Given the description of an element on the screen output the (x, y) to click on. 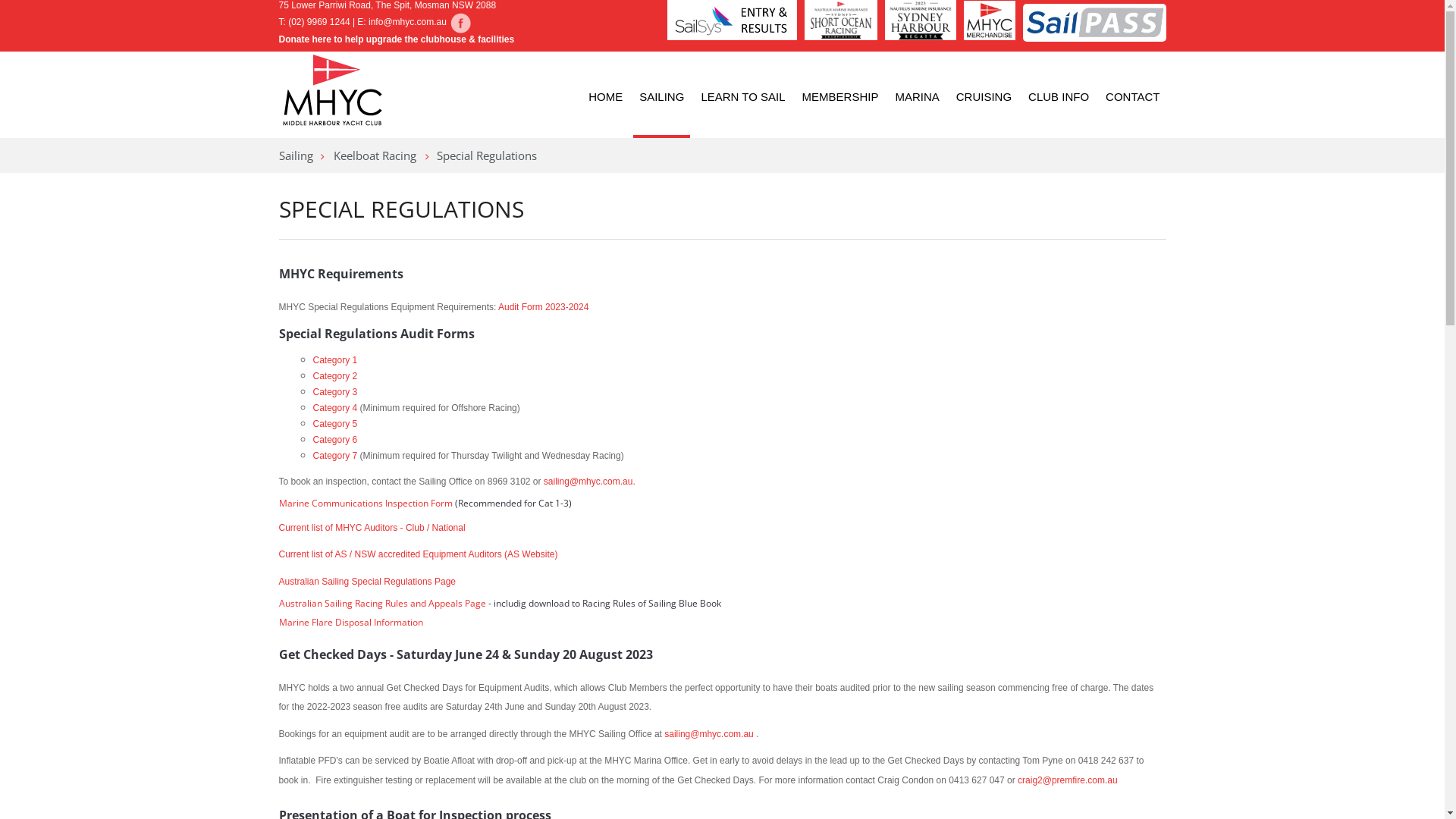
LEARN TO SAIL Element type: text (742, 98)
CONTACT Element type: text (1132, 98)
SPECIAL REGULATIONS Element type: text (401, 208)
Category 1 Element type: text (334, 358)
HOME Element type: text (605, 98)
sailing@mhyc.com.au Element type: text (708, 733)
Marine Communications Inspection Form Element type: text (365, 502)
Category 7 Element type: text (334, 455)
info@mhyc.com.au Element type: text (407, 21)
MARINA Element type: text (916, 98)
Category 5 Element type: text (334, 422)
Donate here to help upgrade the clubhouse & facilities Element type: text (396, 39)
Results Element type: hover (459, 21)
Category 2 Element type: text (334, 374)
Category 4 Element type: text (334, 407)
Current list of MHYC Auditors - Club / National Element type: text (372, 527)
MEMBERSHIP Element type: text (840, 98)
Audit Form 2023-2024 Element type: text (543, 306)
SAILING Element type: text (661, 98)
Sailing Element type: text (296, 155)
Keelboat Racing Element type: text (374, 155)
Category 3 Element type: text (334, 390)
Category 6 Element type: text (334, 438)
sailing@mhyc.com.au. Element type: text (589, 481)
craig2@premfire.com.au Element type: text (1067, 780)
CLUB INFO Element type: text (1058, 98)
Australian Sailing Racing Rules and Appeals Page Element type: text (382, 602)
Marine Flare Disposal Information Element type: text (351, 621)
Australian Sailing Special Regulations Page Element type: text (367, 580)
CRUISING Element type: text (983, 98)
